Given the description of an element on the screen output the (x, y) to click on. 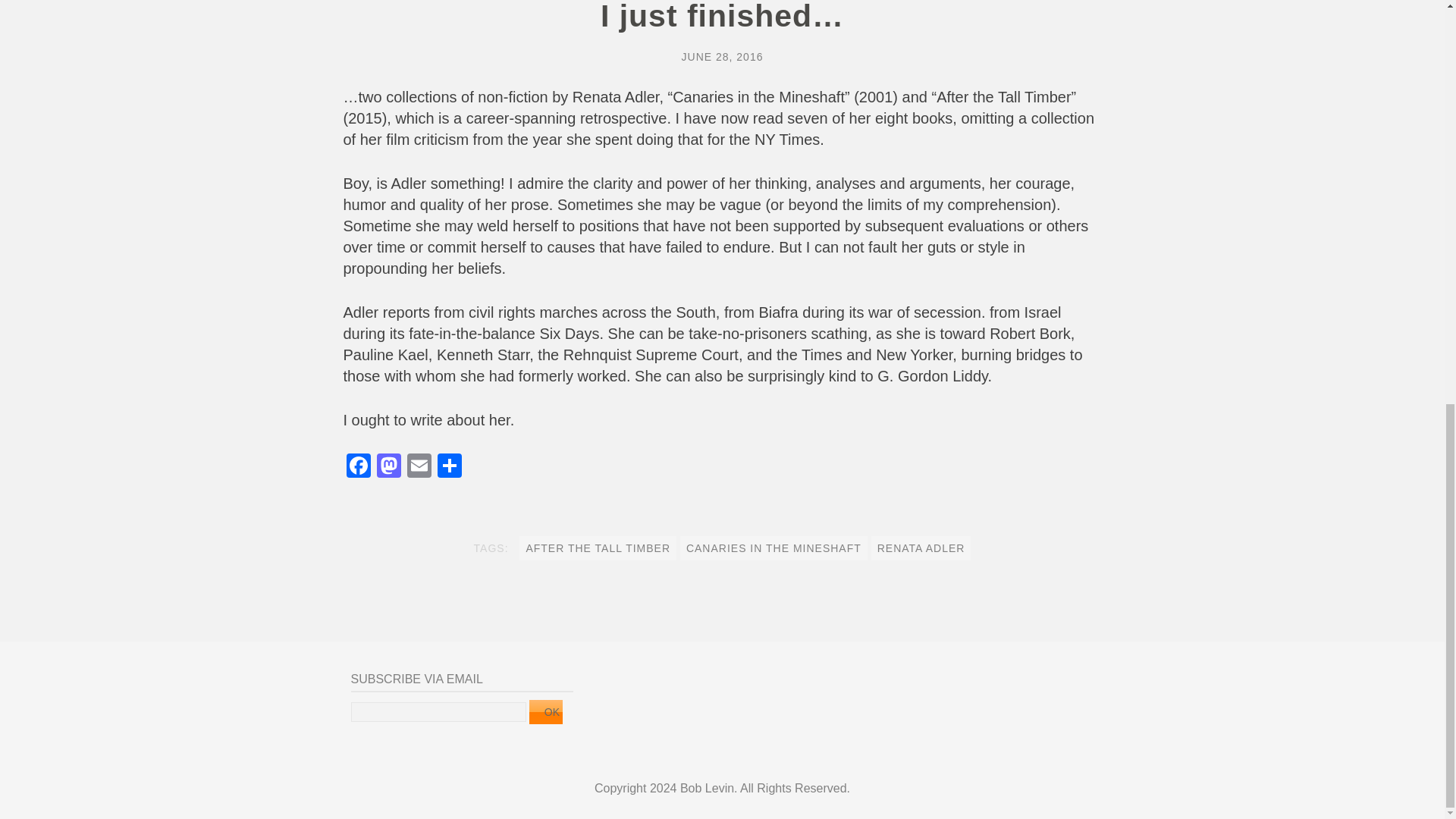
Mastodon (387, 467)
OK (545, 711)
Email (418, 467)
Email (418, 467)
Facebook (357, 467)
Facebook (357, 467)
Mastodon (387, 467)
